Given the description of an element on the screen output the (x, y) to click on. 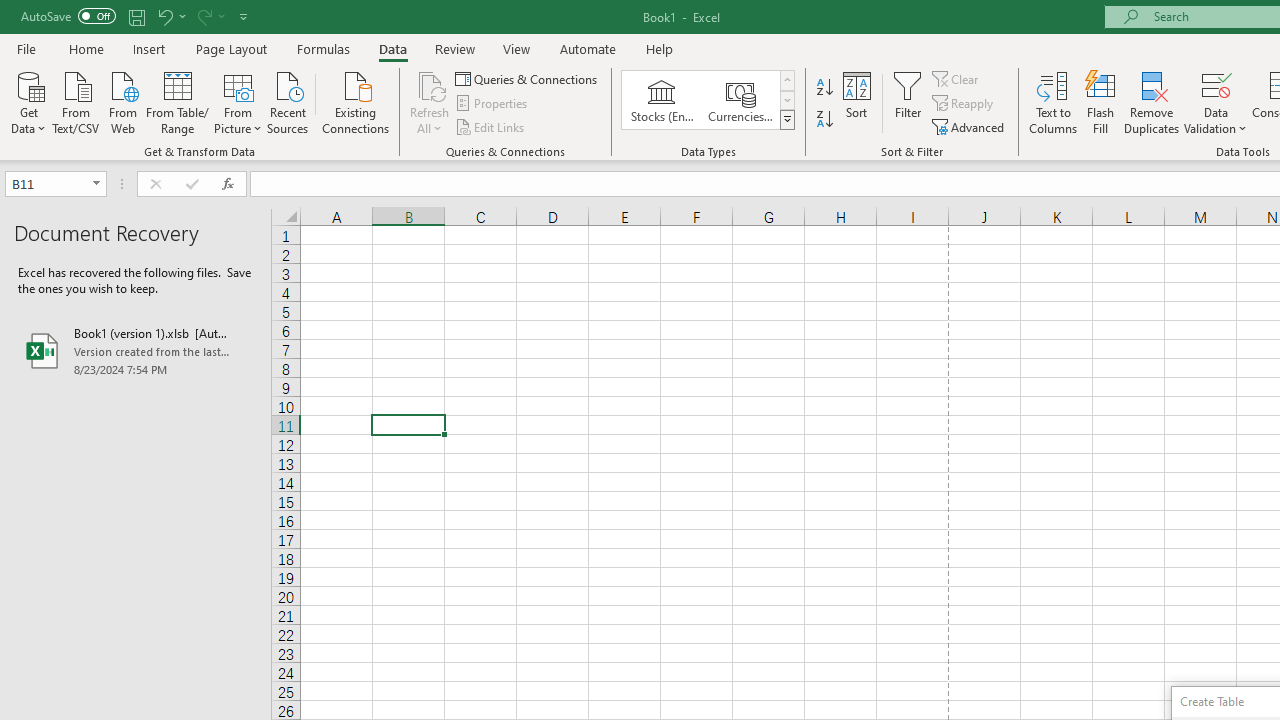
Sort A to Z (824, 87)
Filter (908, 102)
Data Types (786, 120)
Remove Duplicates (1151, 102)
From Text/CSV (75, 101)
Stocks (English) (662, 100)
Get Data (28, 101)
Advanced... (970, 126)
Existing Connections (355, 101)
Reapply (964, 103)
